Given the description of an element on the screen output the (x, y) to click on. 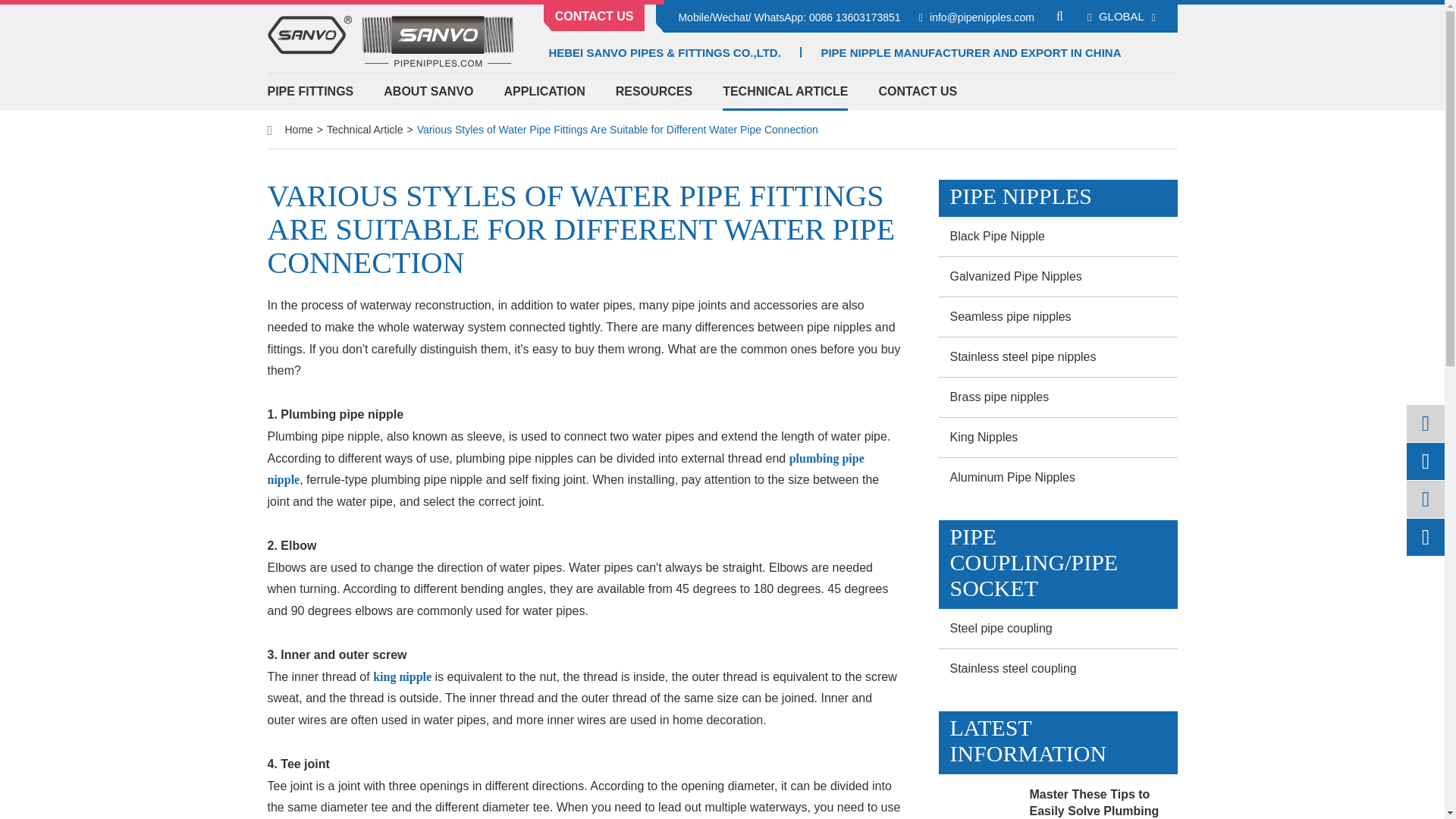
ABOUT SANVO (428, 91)
PIPE FITTINGS (309, 91)
GLOBAL (1121, 15)
Technical Article (364, 129)
APPLICATION (544, 91)
CONTACT US (594, 15)
